Given the description of an element on the screen output the (x, y) to click on. 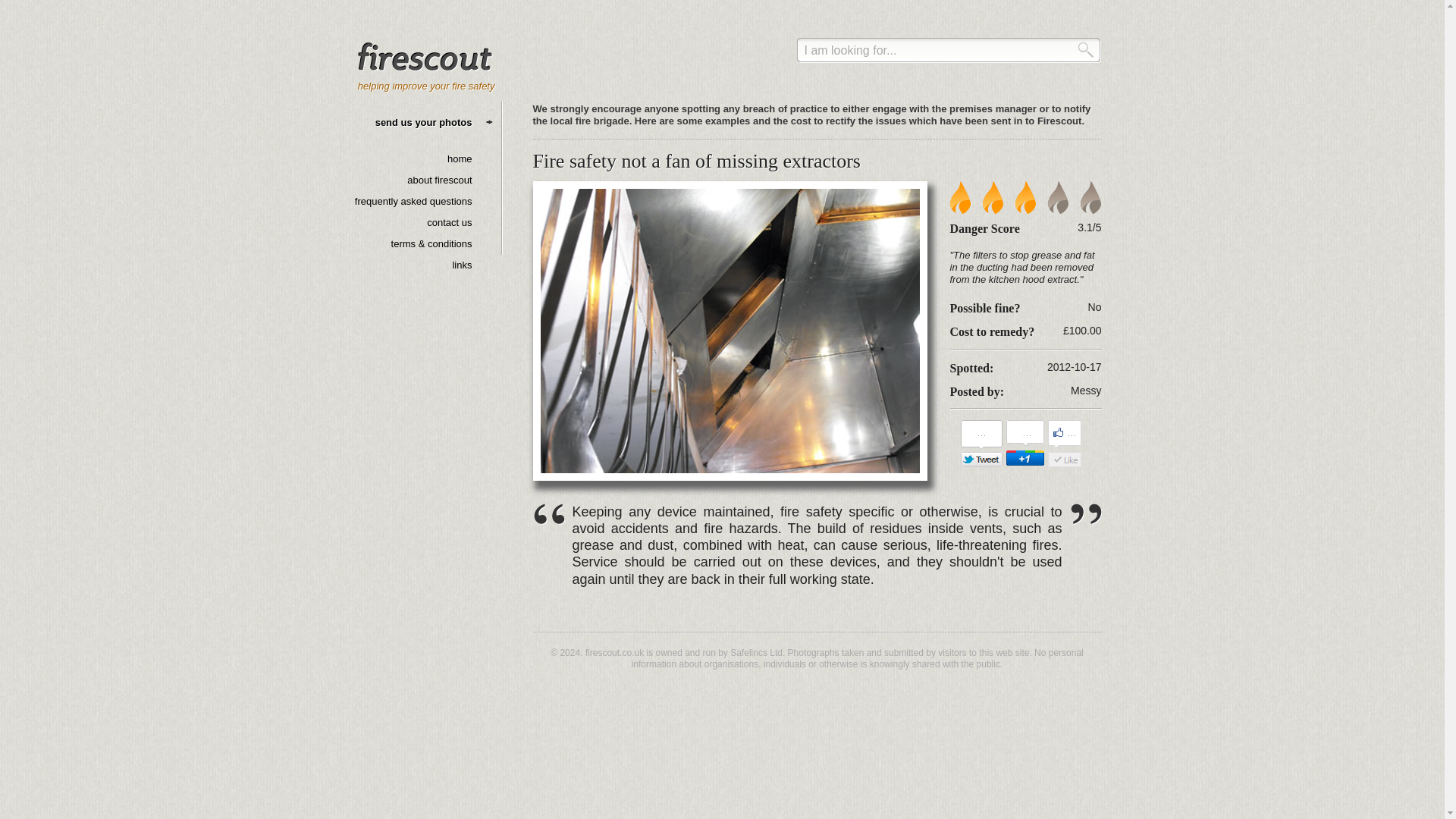
frequently asked questions (413, 201)
send us your photos (423, 122)
contact us (448, 222)
Fire safety not a fan of missing extractors (696, 160)
home (458, 158)
links (461, 265)
about firescout (439, 179)
I am looking for... (948, 50)
Fire safety not a fan of missing extractors (729, 330)
